Given the description of an element on the screen output the (x, y) to click on. 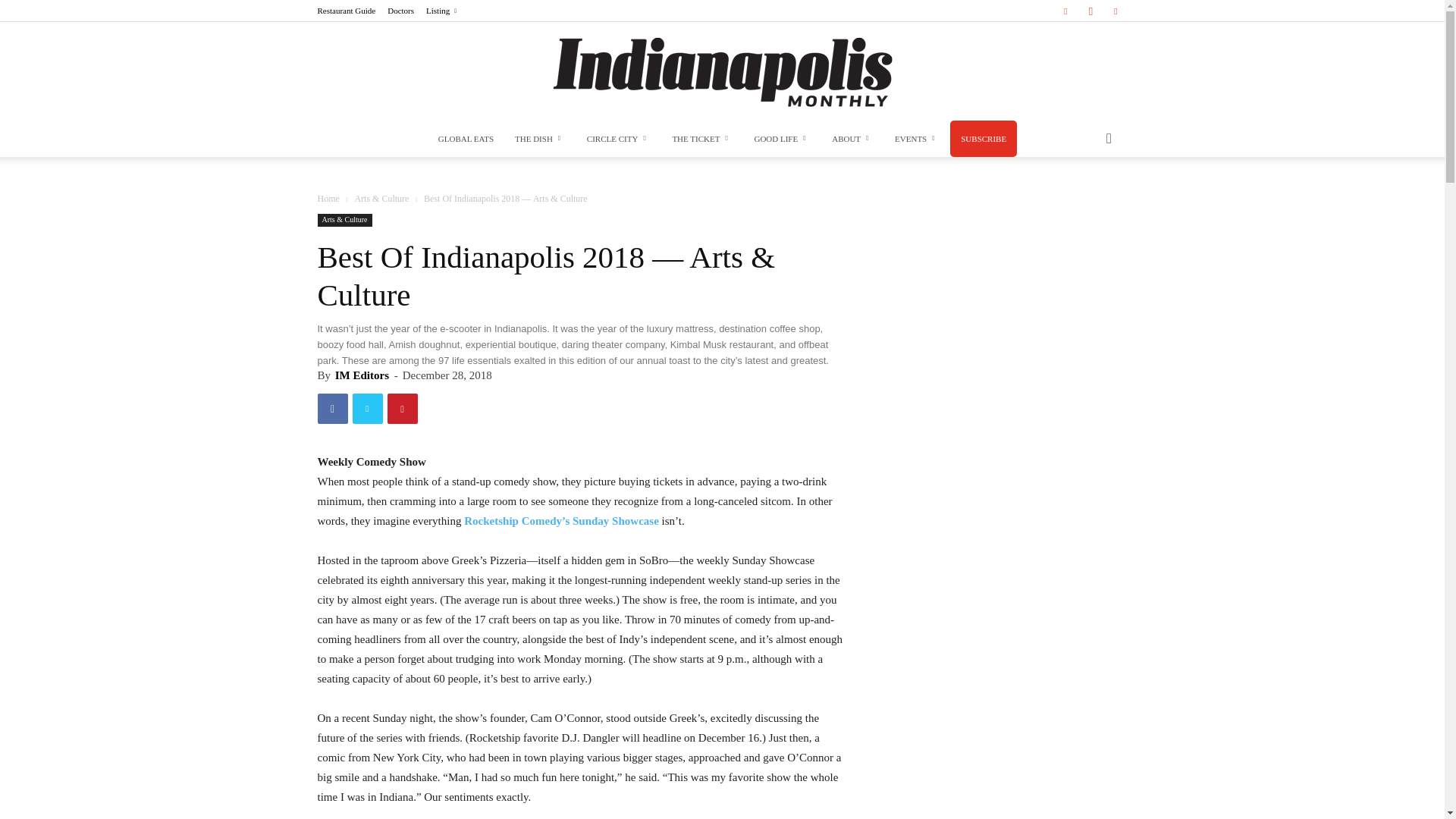
Instagram (1090, 10)
Posts by IM Editors (361, 375)
Twitter (1114, 10)
Facebook (1065, 10)
